Given the description of an element on the screen output the (x, y) to click on. 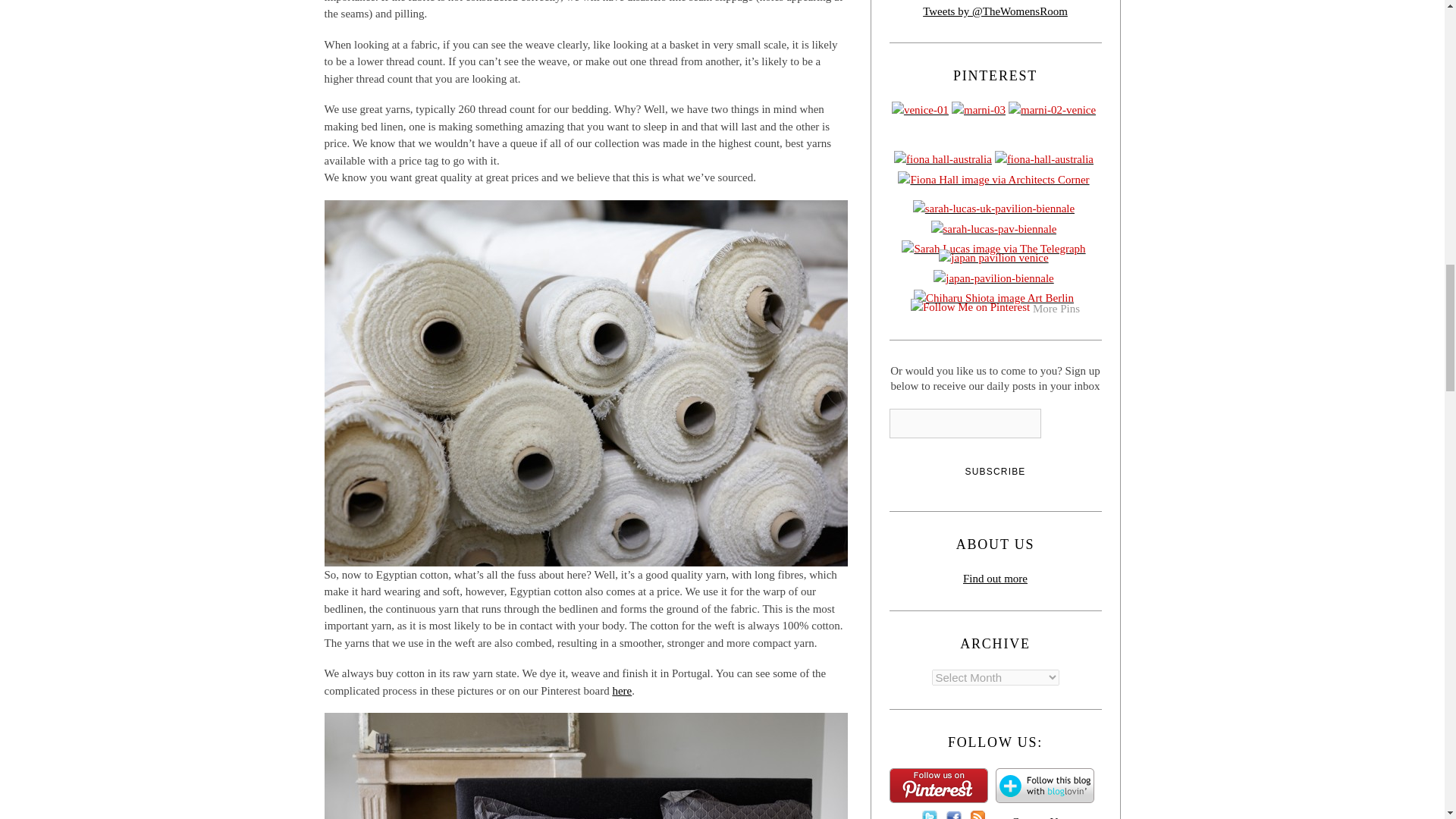
Subscribe (994, 470)
here (621, 690)
venice-01 (921, 111)
sarah-lucas-pav-biennale (995, 230)
marni-03 (980, 111)
japan pavilion venice (995, 259)
marni-02-venice (1054, 111)
Chiharu Shiota image Art Berlin (995, 299)
Fiona Hall image via Architects Corner (995, 181)
fiona hall-australia (943, 160)
japan-pavilion-biennale (995, 280)
sarah-lucas-uk-pavilion-biennale (994, 209)
Sarah Lucas image via The Telegraph (994, 250)
fiona-hall-australia (1045, 160)
